Given the description of an element on the screen output the (x, y) to click on. 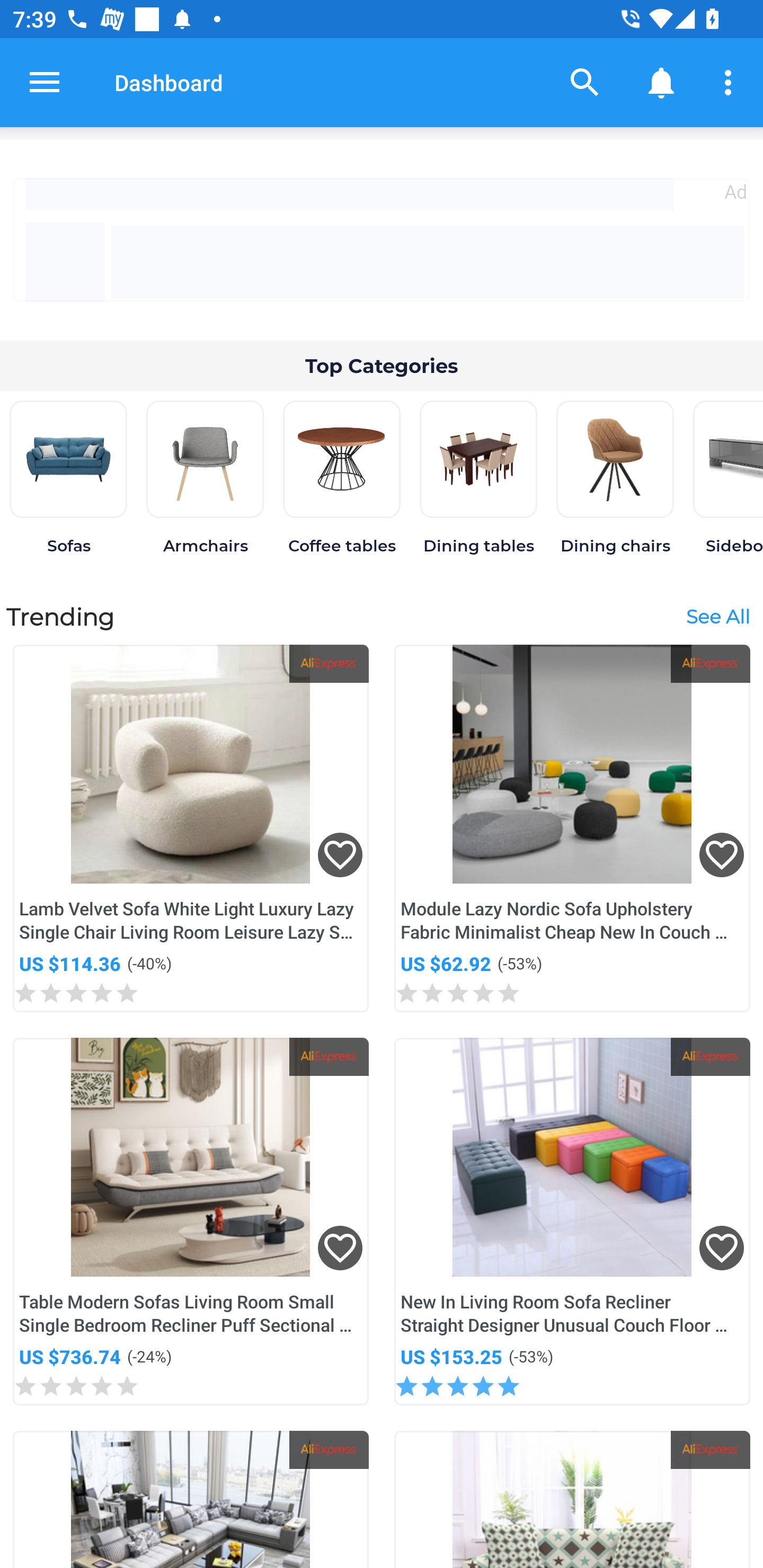
Open navigation drawer (44, 82)
Search (585, 81)
More options (731, 81)
See All (717, 615)
